Given the description of an element on the screen output the (x, y) to click on. 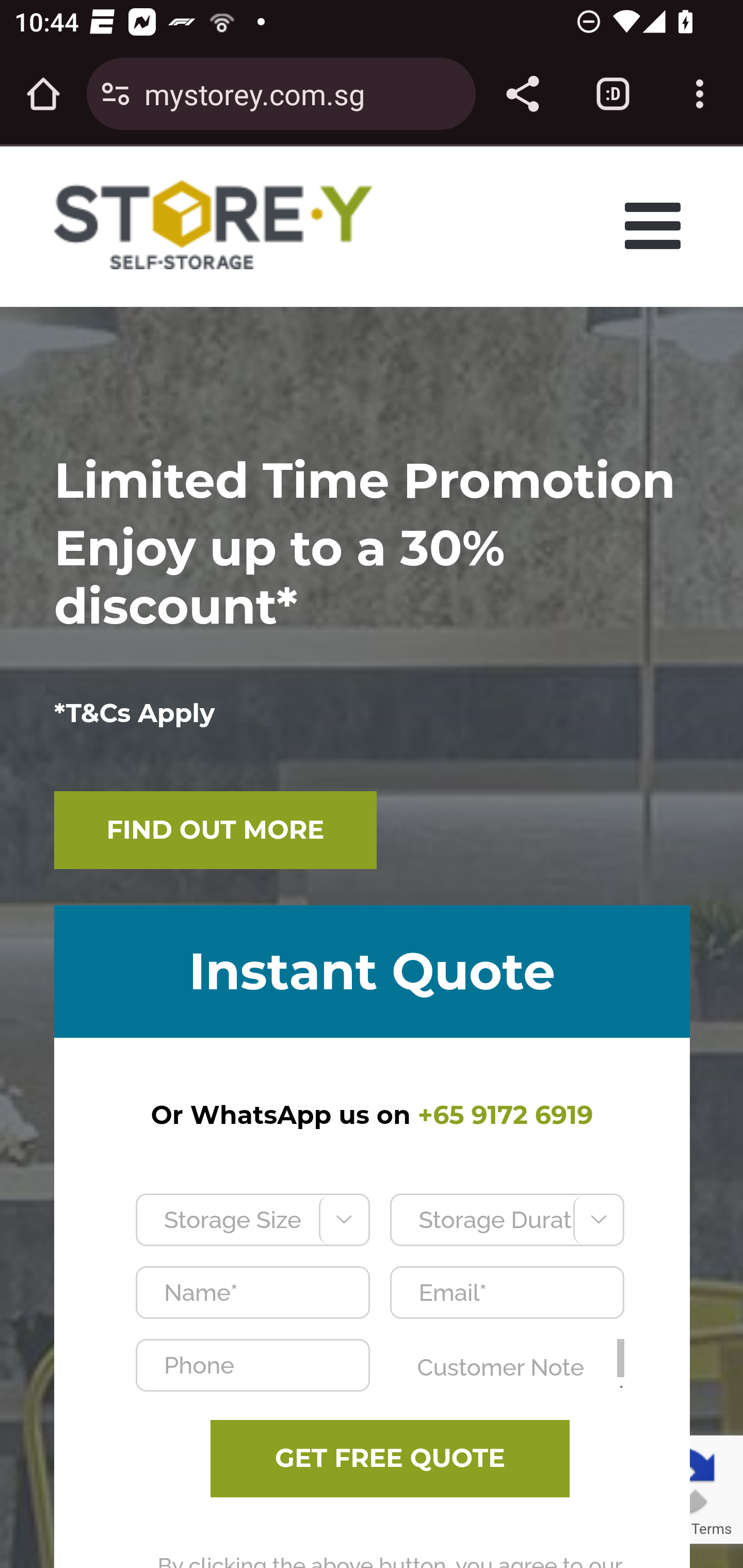
Open the home page (43, 93)
Connection is secure (115, 93)
Share (522, 93)
Switch or close tabs (612, 93)
Customize and control Google Chrome (699, 93)
mystorey.com.sg (302, 92)
Store-Y Logo (213, 225)
Toggle mobile menu  (657, 225)
FIND OUT MORE (215, 830)
+65 9172 6919 (504, 1115)
Storage Size (251, 1219)
Storage Duration* (505, 1219)
Get Free Quote (389, 1459)
